Given the description of an element on the screen output the (x, y) to click on. 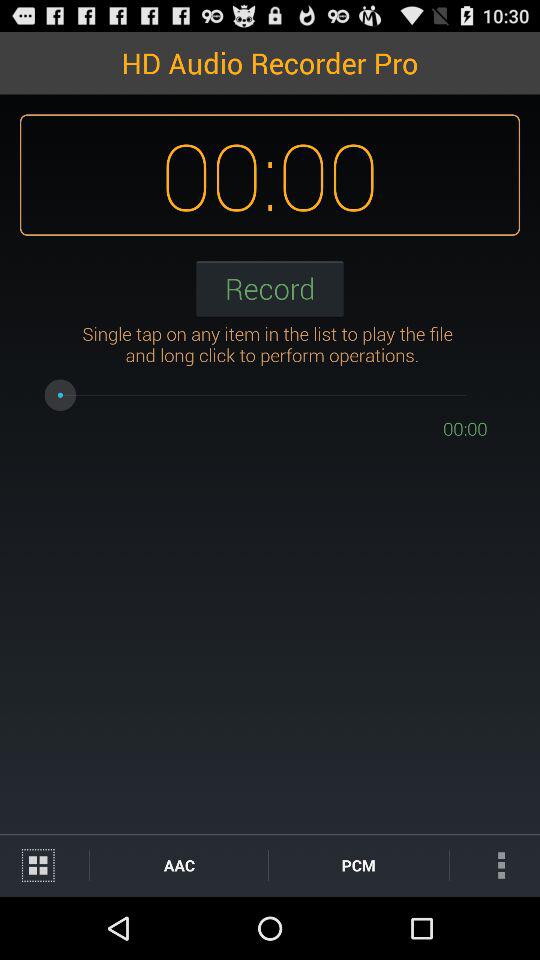
tap pcm item (358, 864)
